Given the description of an element on the screen output the (x, y) to click on. 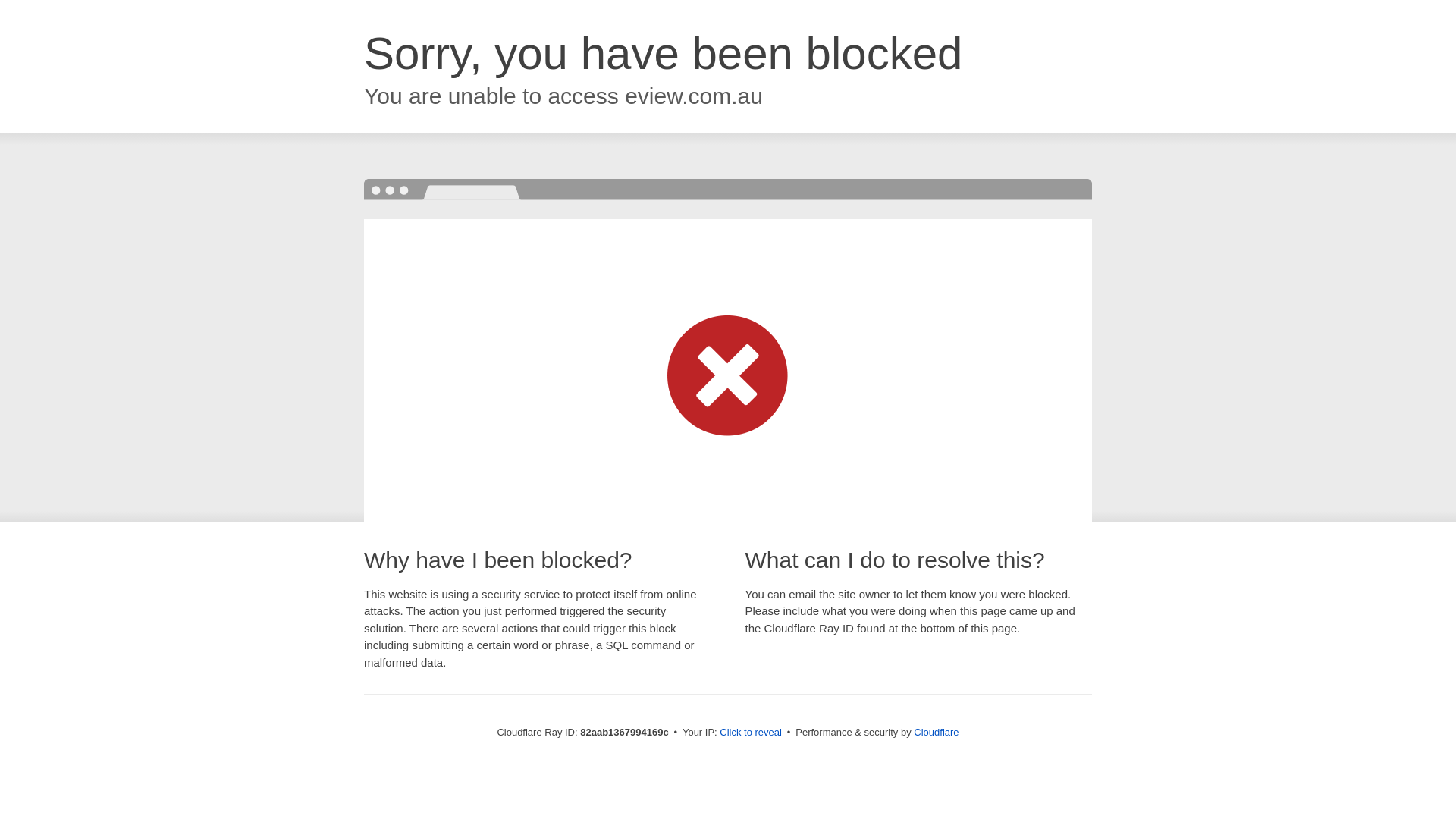
Click to reveal Element type: text (750, 732)
Cloudflare Element type: text (935, 731)
